Given the description of an element on the screen output the (x, y) to click on. 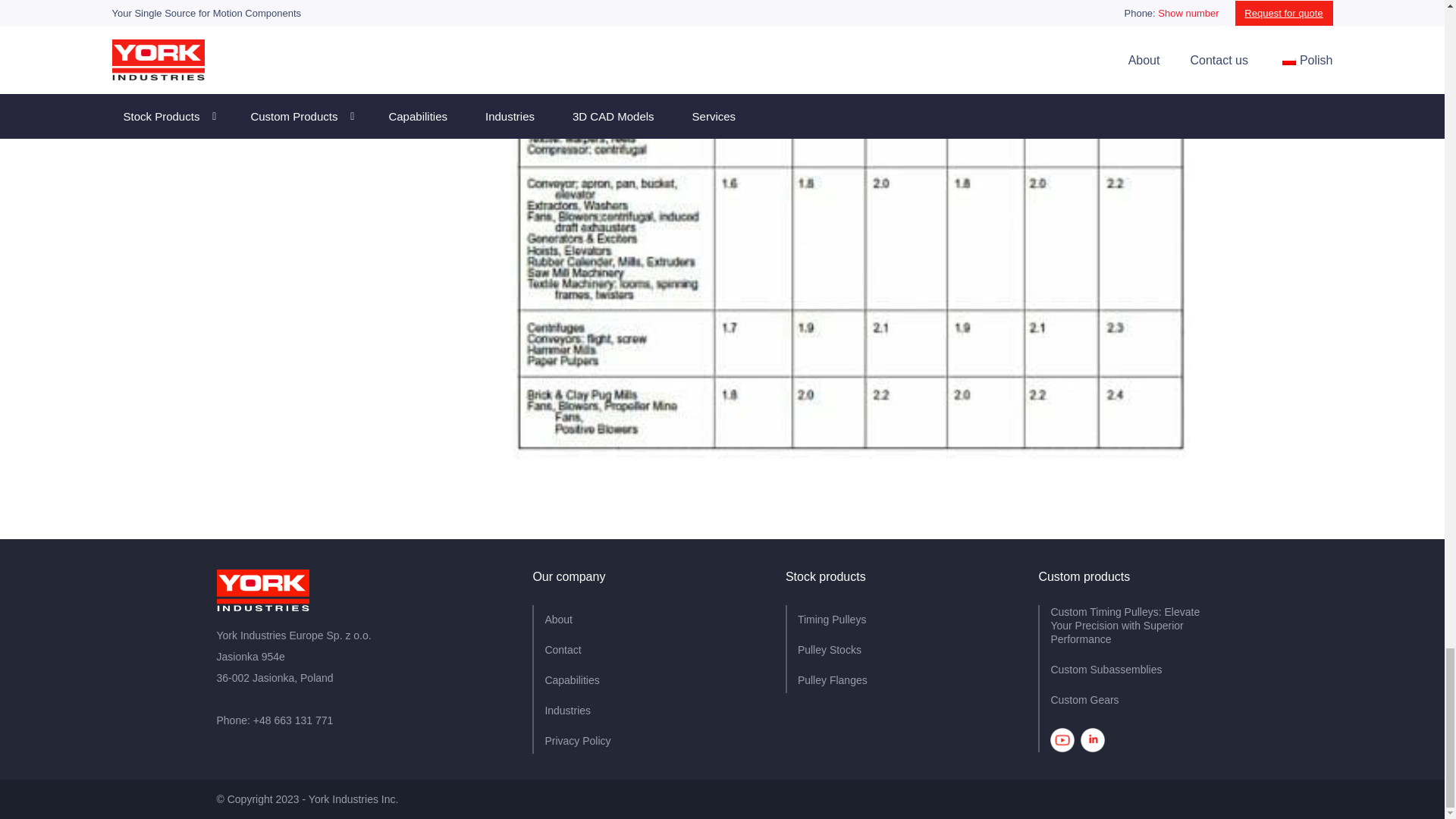
Pulley Flanges (832, 680)
About (558, 619)
Contact (562, 649)
Pulley Stocks (829, 649)
Privacy Policy (577, 740)
Custom Subassemblies (1105, 669)
Capabilities (571, 680)
Industries (567, 710)
Timing Pulleys (831, 619)
